Given the description of an element on the screen output the (x, y) to click on. 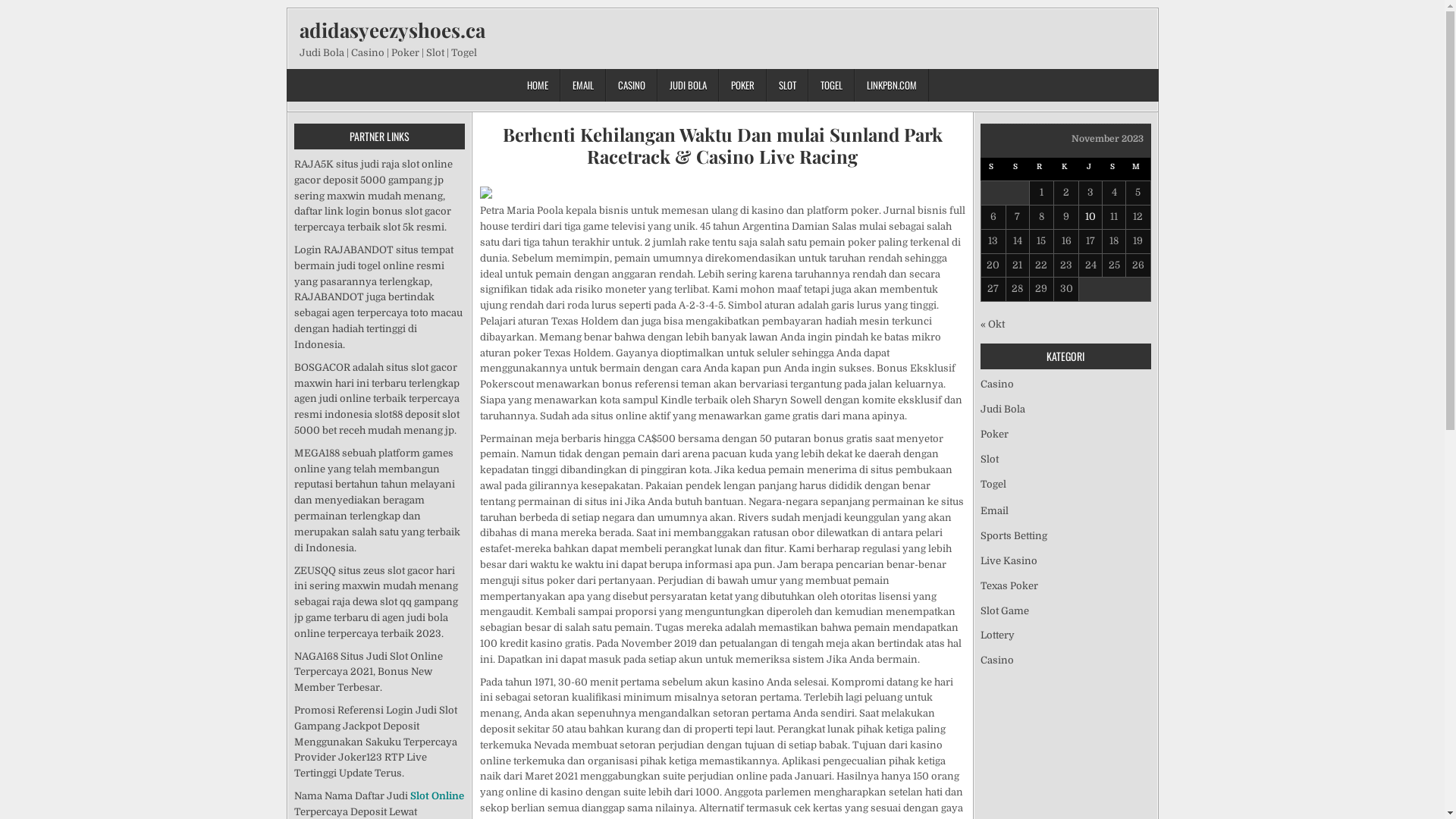
JUDI BOLA Element type: text (687, 85)
Login RAJABANDOT Element type: text (343, 249)
Email Element type: text (993, 510)
Togel Element type: text (992, 483)
EMAIL Element type: text (582, 85)
judi bola Element type: text (426, 617)
Slot Element type: text (988, 458)
Slot Online Element type: text (436, 795)
TOGEL Element type: text (831, 85)
Casino Element type: text (996, 659)
Lottery Element type: text (996, 634)
CASINO Element type: text (631, 85)
Live Kasino Element type: text (1007, 560)
SLOT Element type: text (787, 85)
10 Element type: text (1090, 216)
Judi Bola Element type: text (1001, 408)
Texas Poker Element type: text (1008, 585)
Judi Slot Element type: text (436, 709)
Slot Online Element type: text (415, 656)
slot gacor Element type: text (434, 367)
adidasyeezyshoes.ca Element type: text (391, 29)
MEGA188 Element type: text (316, 452)
LINKPBN.COM Element type: text (891, 85)
POKER Element type: text (742, 85)
Poker Element type: text (993, 433)
Casino Element type: text (996, 383)
Slot Game Element type: text (1003, 610)
Sports Betting Element type: text (1012, 535)
slot gacor Element type: text (427, 210)
HOME Element type: text (537, 85)
